Given the description of an element on the screen output the (x, y) to click on. 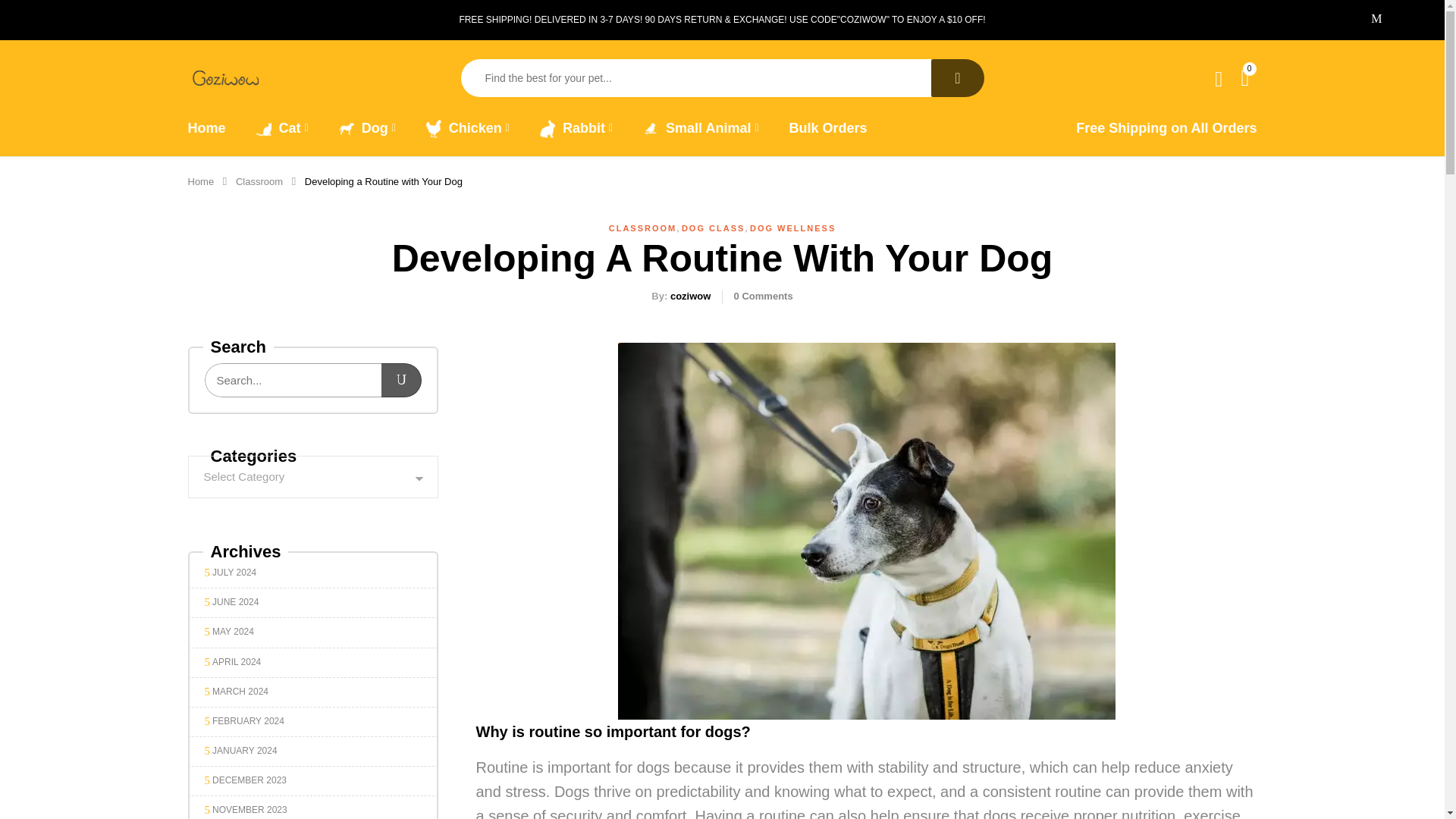
Chicken (467, 128)
Small Animal (700, 128)
search (957, 77)
Rabbit (576, 128)
0 (1245, 78)
Posts by coziwow (689, 296)
Dog (367, 128)
Cat (282, 128)
Home (206, 127)
